Given the description of an element on the screen output the (x, y) to click on. 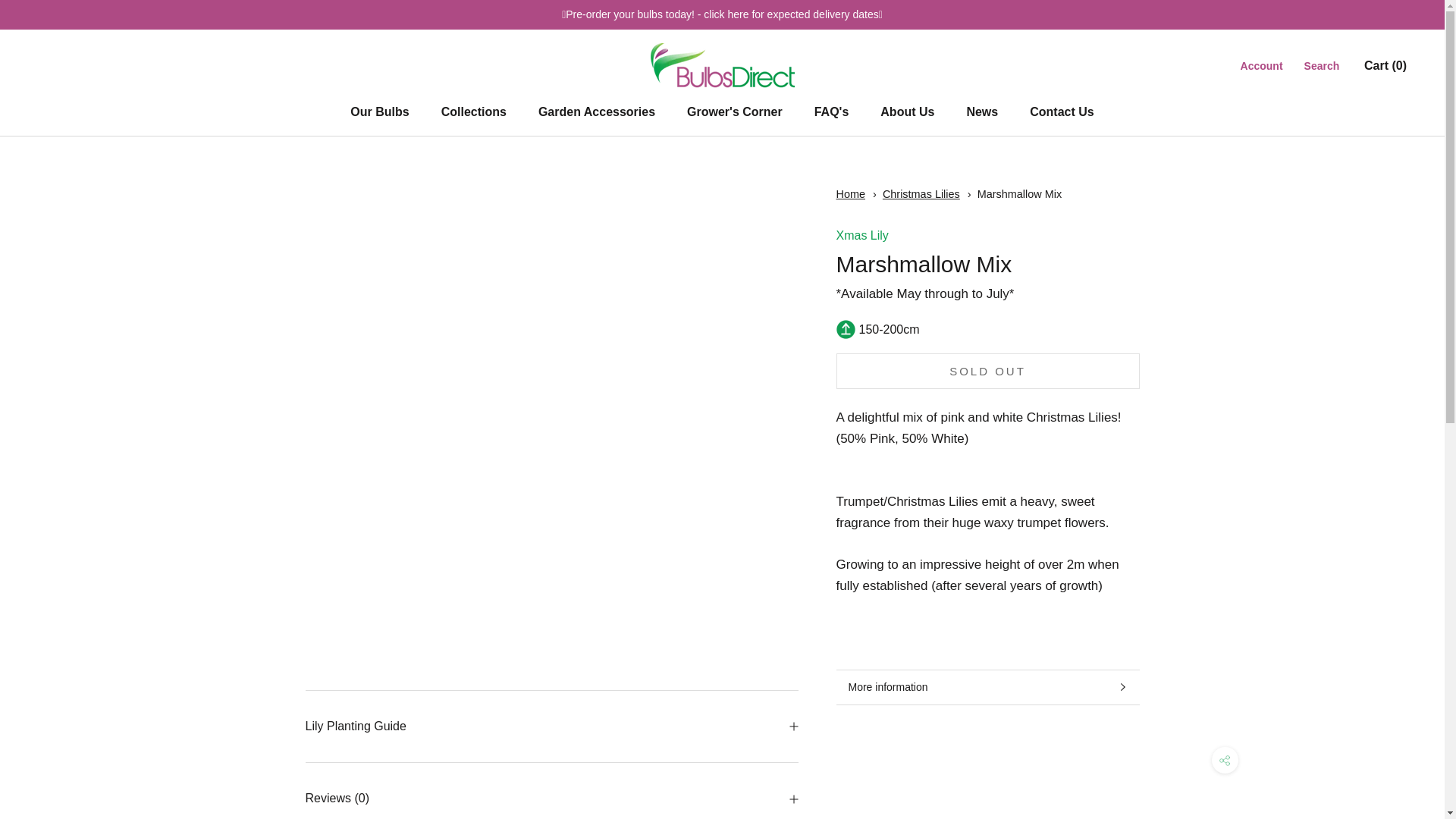
Home (849, 193)
